Given the description of an element on the screen output the (x, y) to click on. 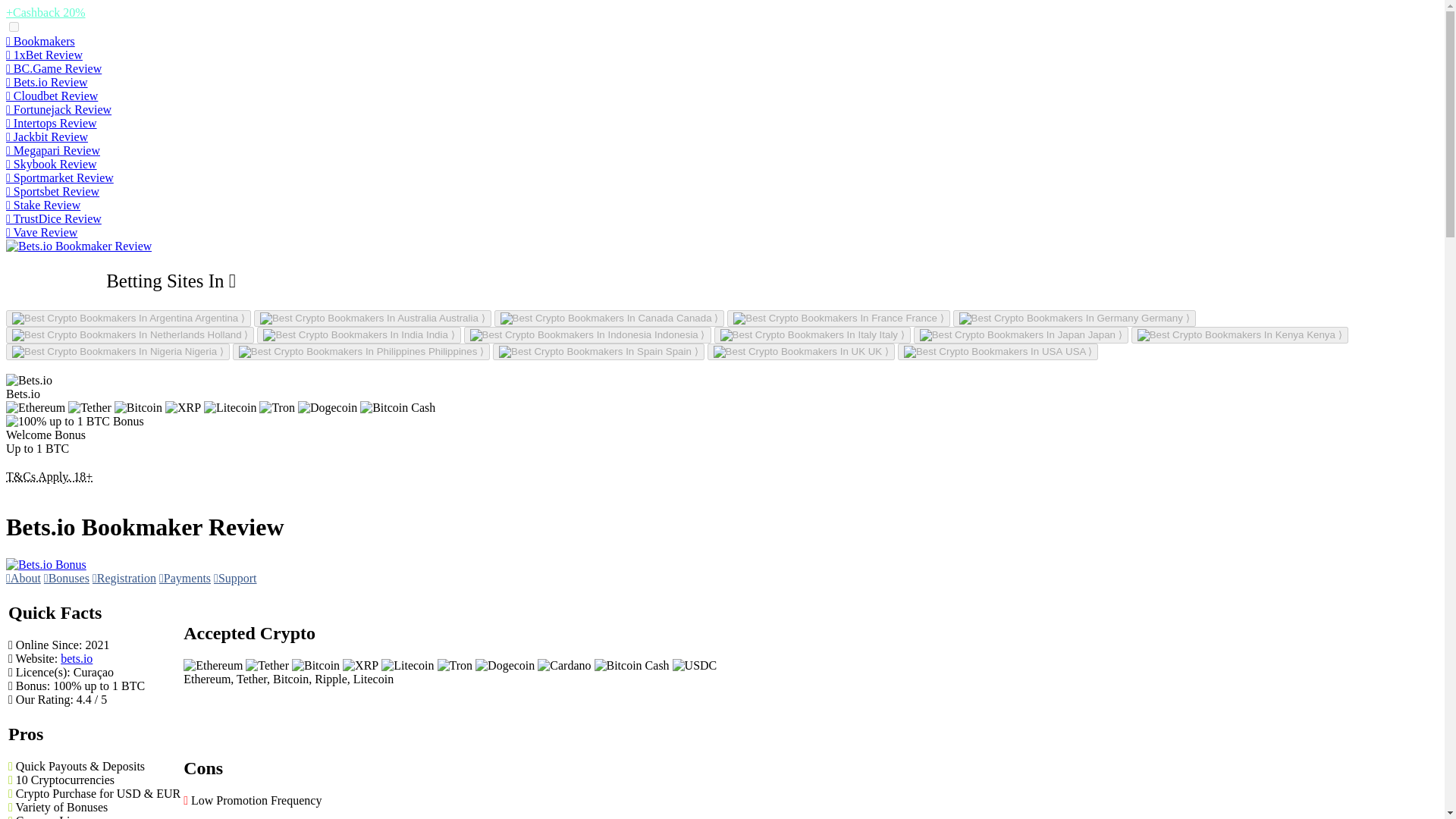
Dogecoin (327, 407)
Bitcoin (315, 665)
Tron (455, 665)
Dogecoin (505, 665)
Cardano (564, 665)
Bitcoin Cash (631, 665)
USDC (694, 665)
Ethereum (213, 665)
Ripple (182, 407)
Tether (267, 665)
